Given the description of an element on the screen output the (x, y) to click on. 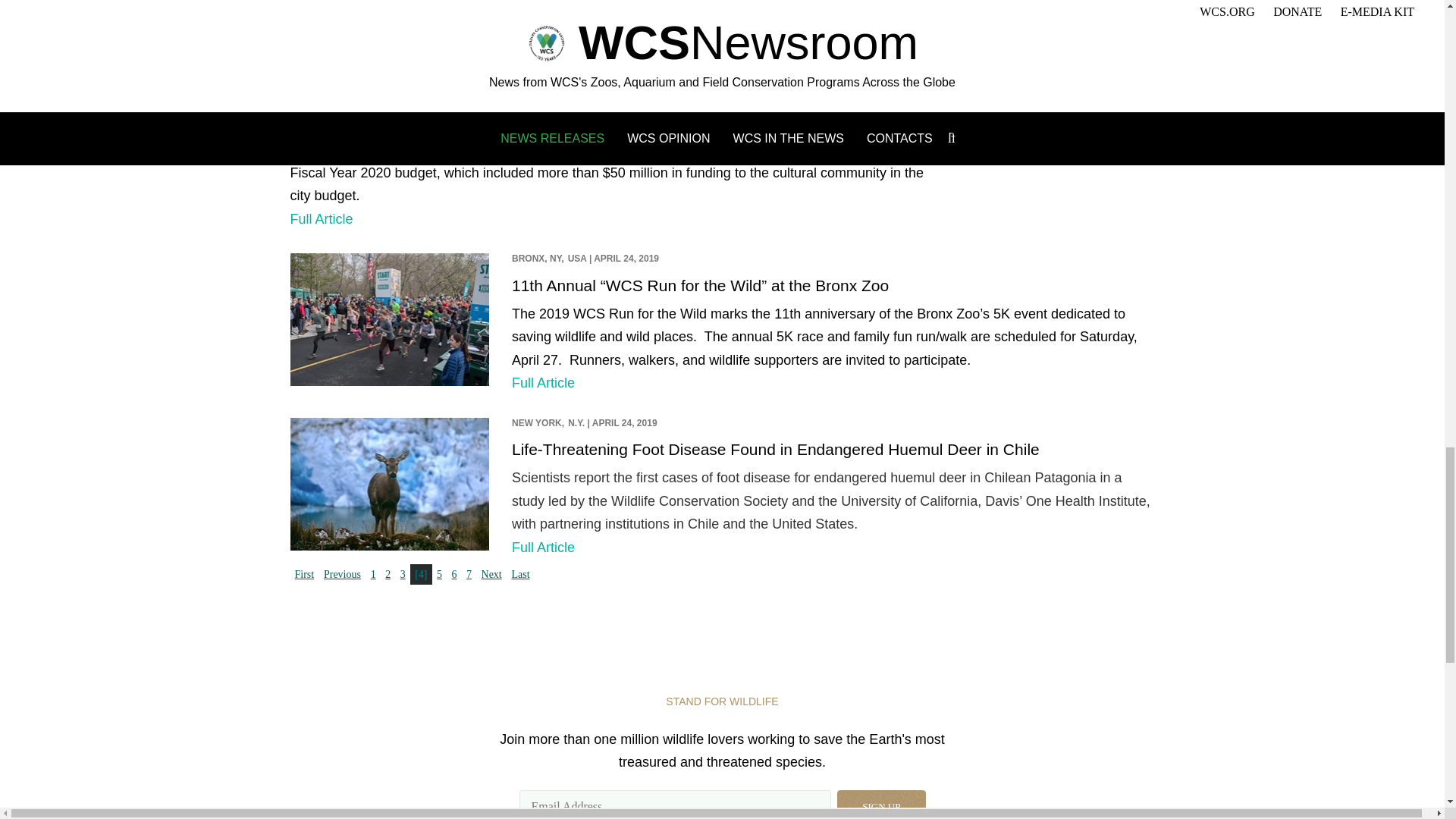
First (303, 574)
Full Article (543, 547)
Full Article (543, 382)
Full Article (320, 218)
Full Article (543, 7)
